Given the description of an element on the screen output the (x, y) to click on. 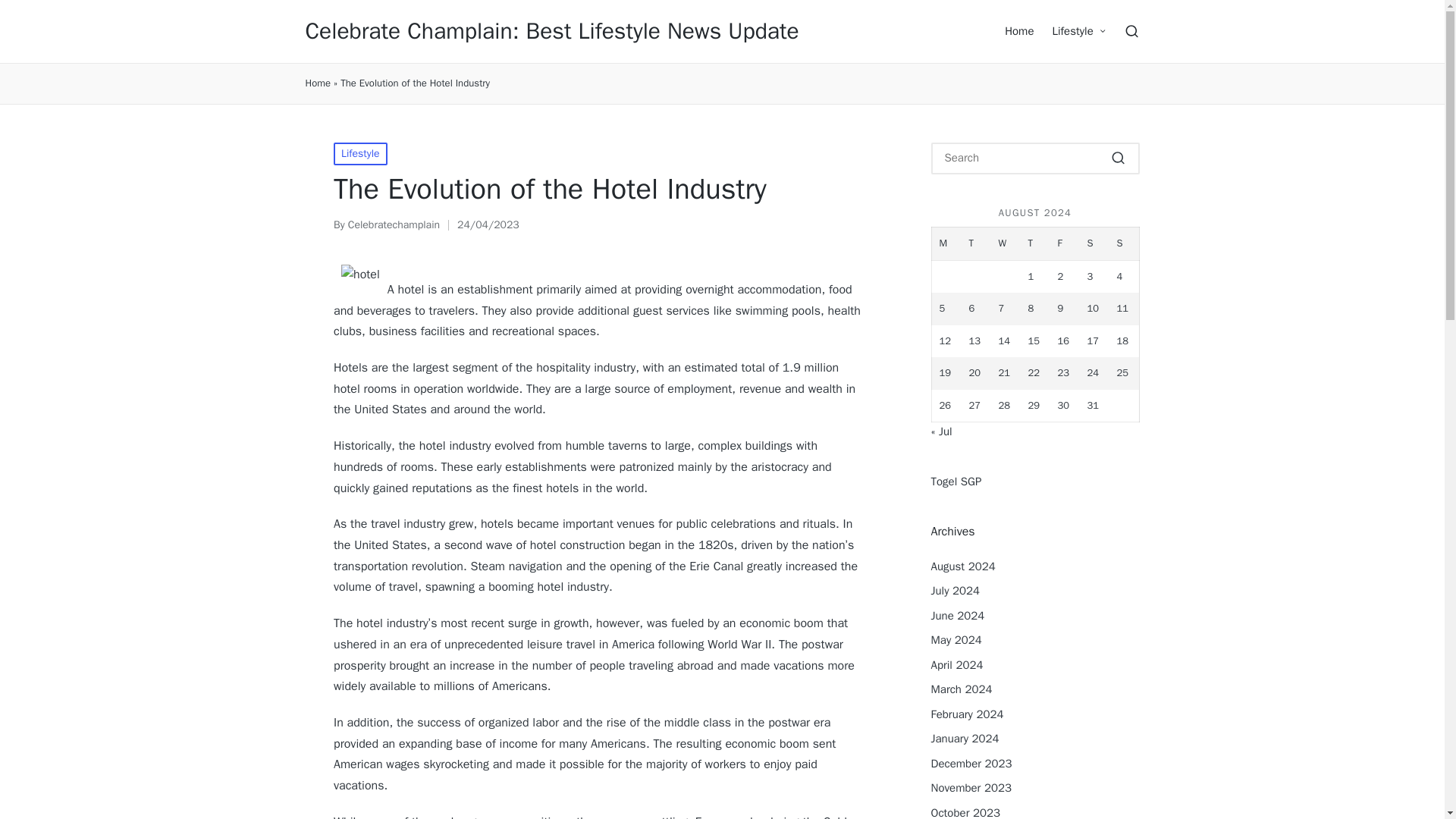
March 2024 (961, 689)
February 2024 (967, 714)
October 2023 (965, 811)
May 2024 (956, 640)
Monday (945, 244)
Celebratechamplain (393, 224)
Sunday (1123, 244)
Lifestyle (360, 153)
Celebrate Champlain: Best Lifestyle News Update (550, 31)
April 2024 (957, 665)
